Given the description of an element on the screen output the (x, y) to click on. 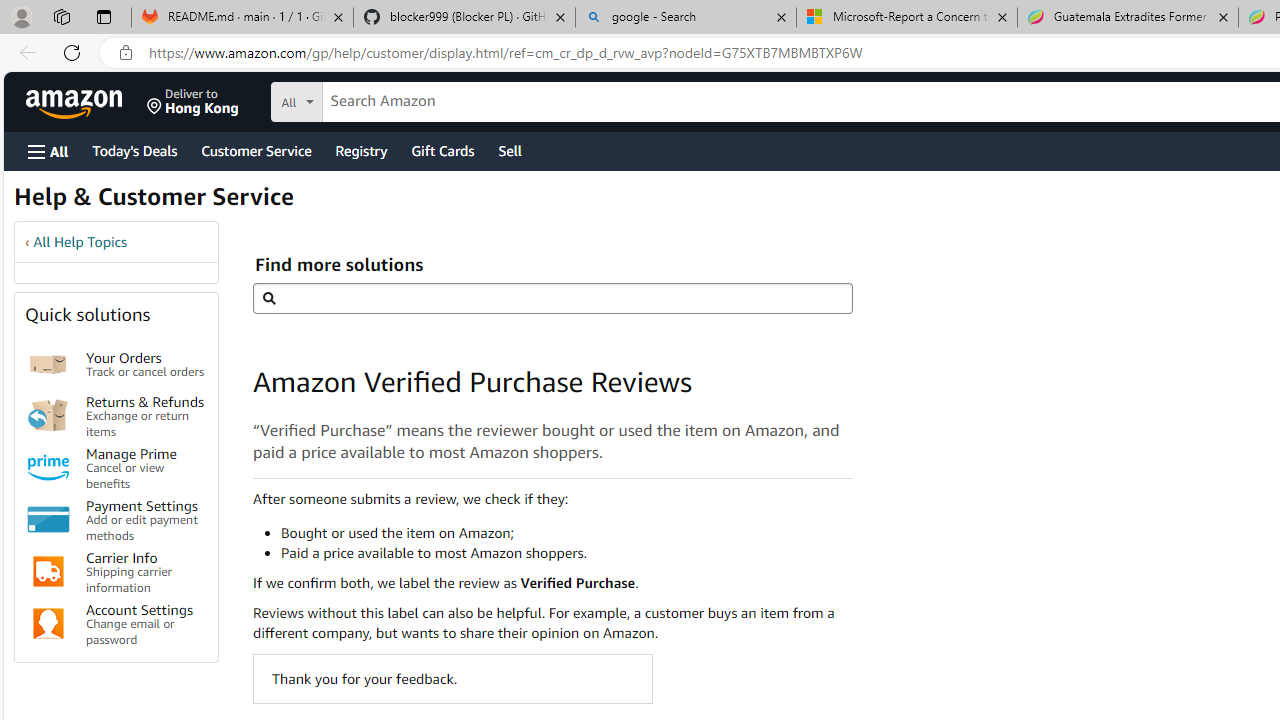
Carrier Info Shipping carrier information (145, 571)
Manage Prime (48, 467)
Help & Customer Service (154, 201)
Your Orders Track or cancel orders (145, 363)
Gift Cards (442, 150)
Your Orders (48, 364)
Carrier Info (48, 571)
google - Search (686, 17)
Find more solutions (552, 297)
Manage Prime (48, 467)
